Given the description of an element on the screen output the (x, y) to click on. 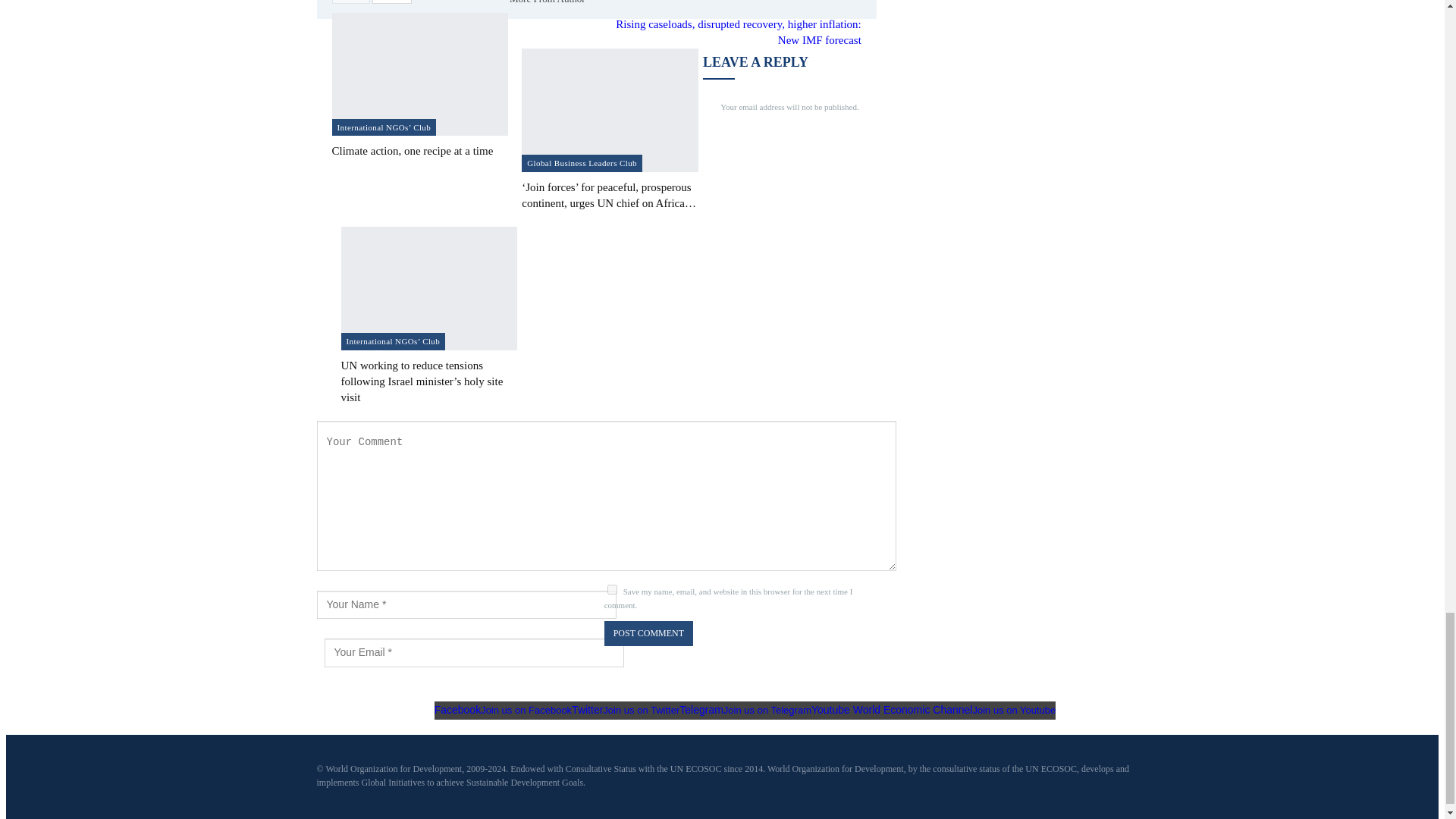
yes (612, 588)
Post Comment (648, 633)
